Given the description of an element on the screen output the (x, y) to click on. 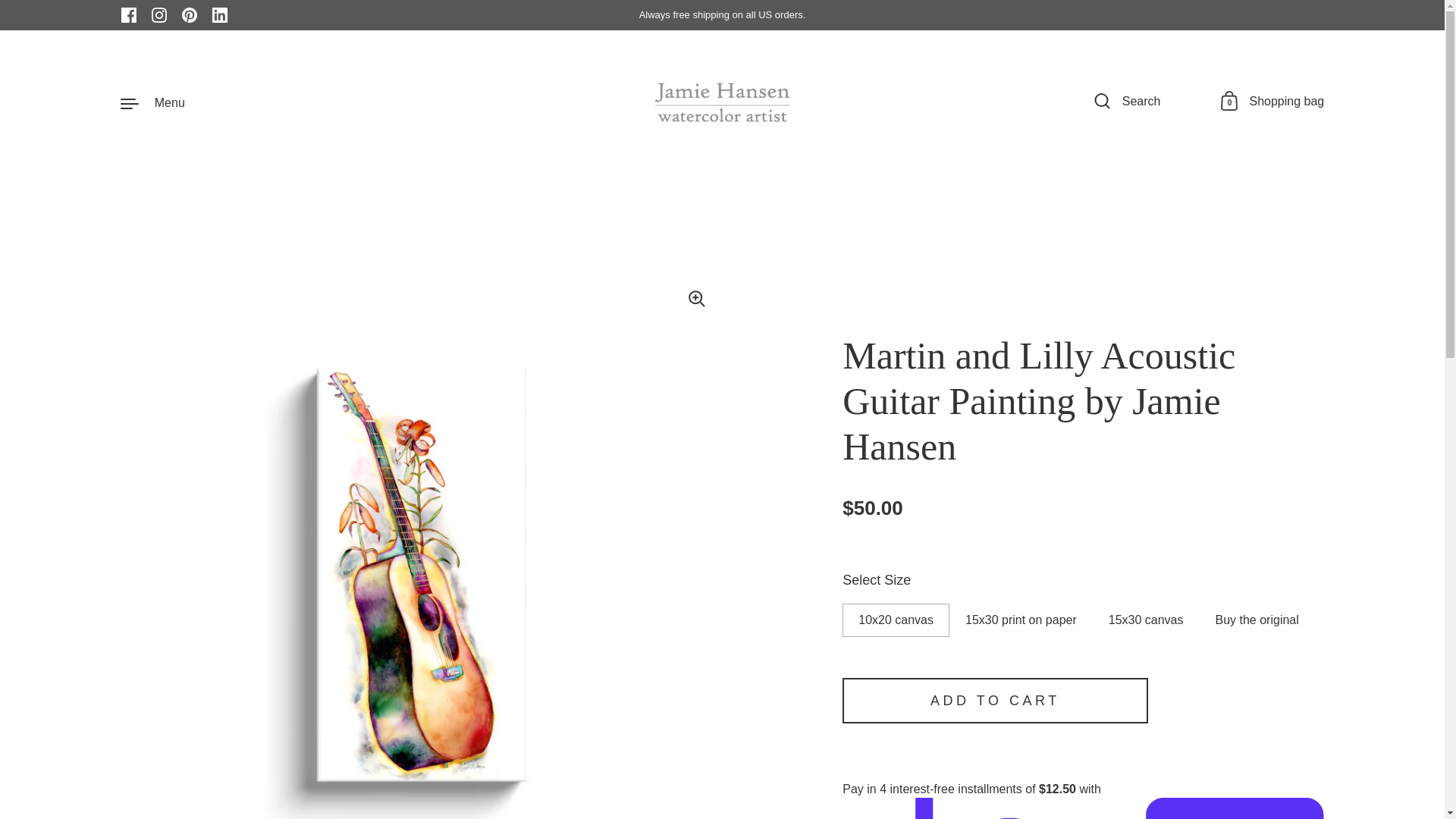
LinkedIn (219, 15)
Pinterest (189, 15)
ADD TO CART (995, 700)
Search (1127, 102)
Instagram (159, 15)
Jamie Hansen Art (1272, 102)
Facebook (722, 102)
Always free shipping on all US orders. (128, 15)
